Given the description of an element on the screen output the (x, y) to click on. 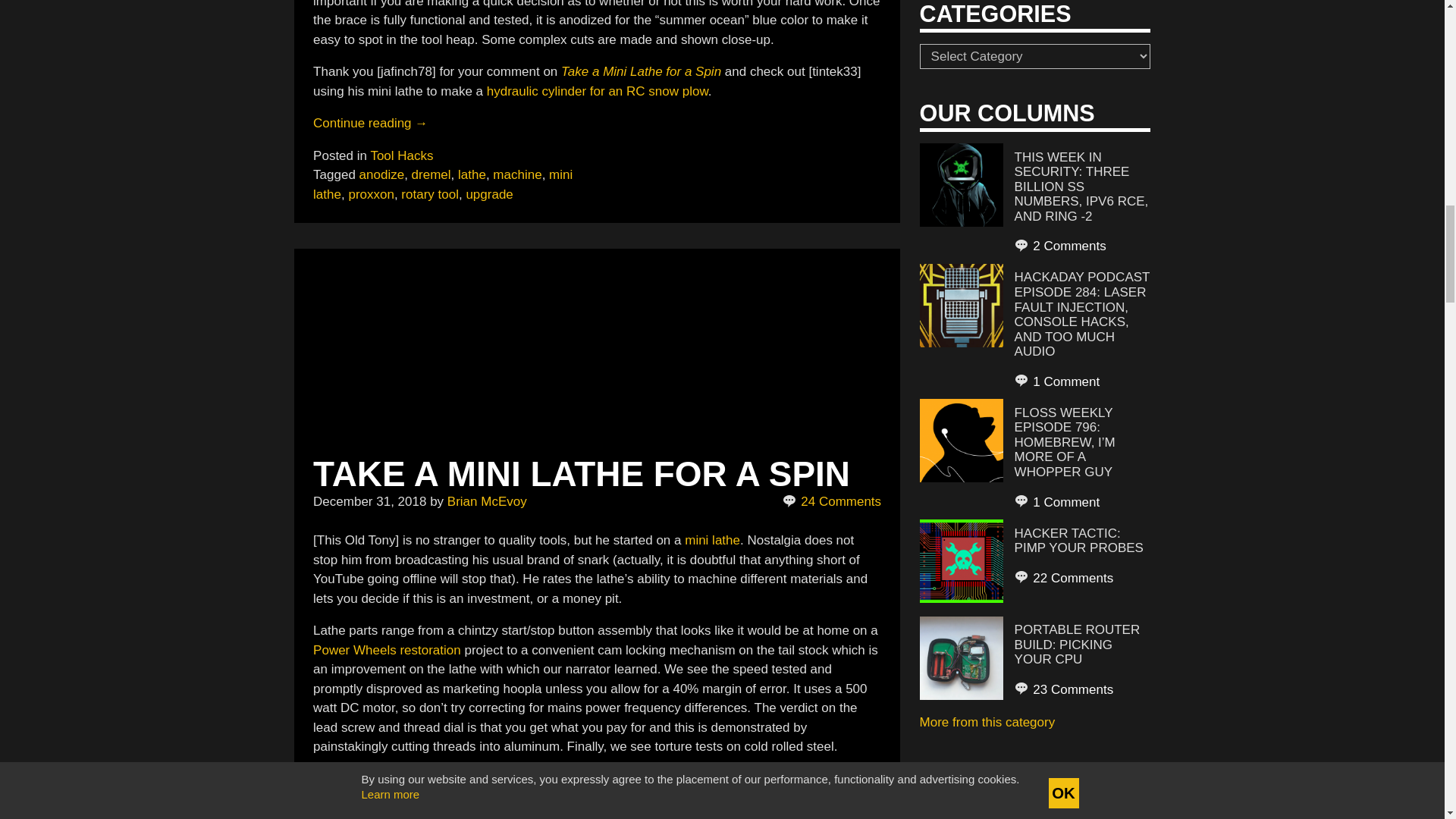
December 31, 2018 - 1:01 am (369, 501)
hydraulic cylinder for an RC snow plow (596, 91)
Posts by Brian McEvoy (486, 501)
Take a Mini Lathe for a Spin (640, 71)
